Given the description of an element on the screen output the (x, y) to click on. 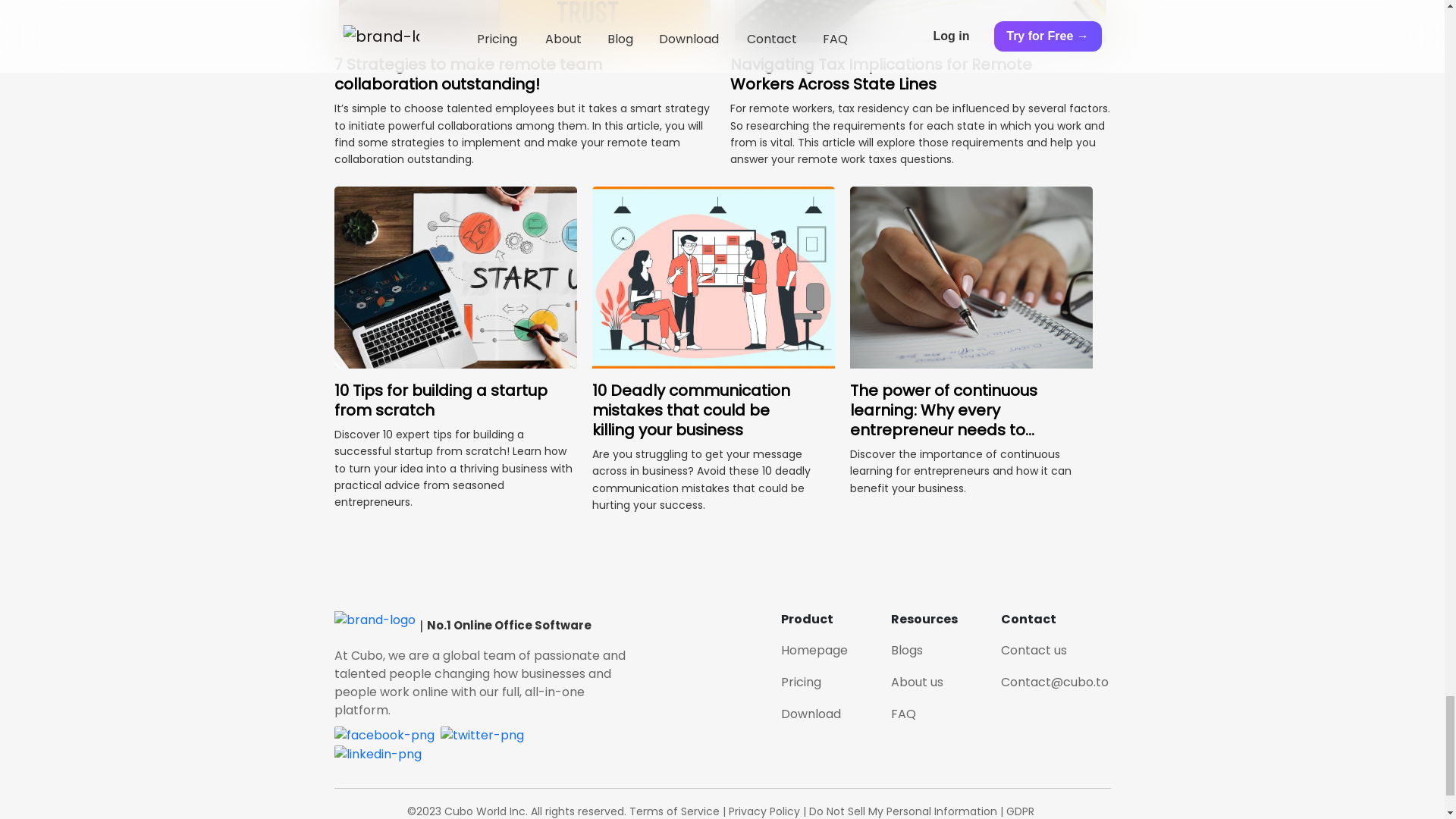
Download (810, 713)
About us (915, 682)
Contact us (1034, 650)
FAQ (902, 713)
Blogs (905, 650)
Homepage (813, 650)
Pricing (800, 682)
